Given the description of an element on the screen output the (x, y) to click on. 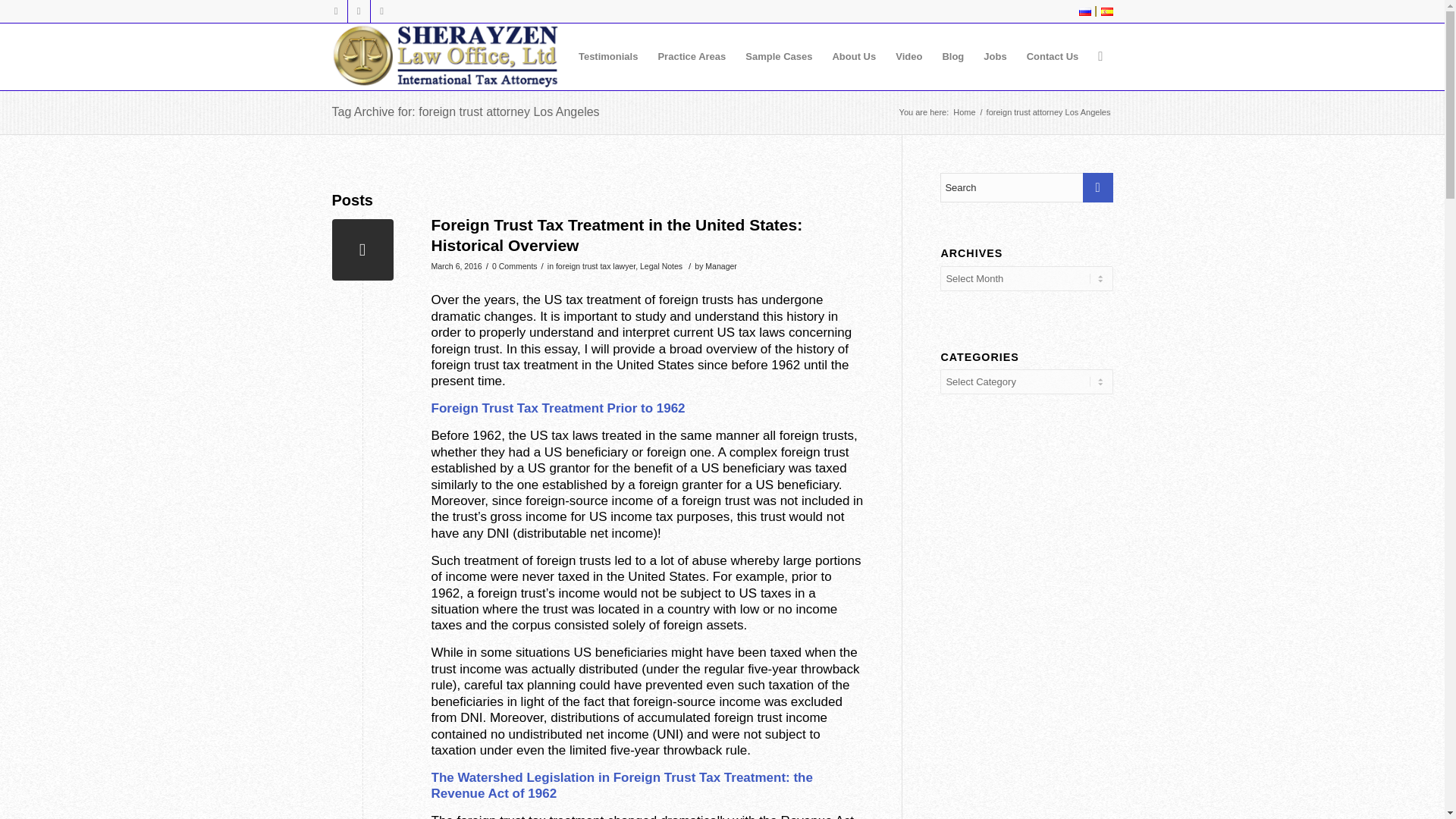
Manager (720, 266)
Twitter (335, 11)
Contact Us (1052, 56)
Posts by Manager (720, 266)
Home (963, 112)
Legal Notes (661, 266)
Sample Cases (778, 56)
Tag Archive for: foreign trust attorney Los Angeles (465, 111)
foreign trust tax lawyer (595, 266)
About Us (853, 56)
Practice Areas (691, 56)
Gplus (358, 11)
